Given the description of an element on the screen output the (x, y) to click on. 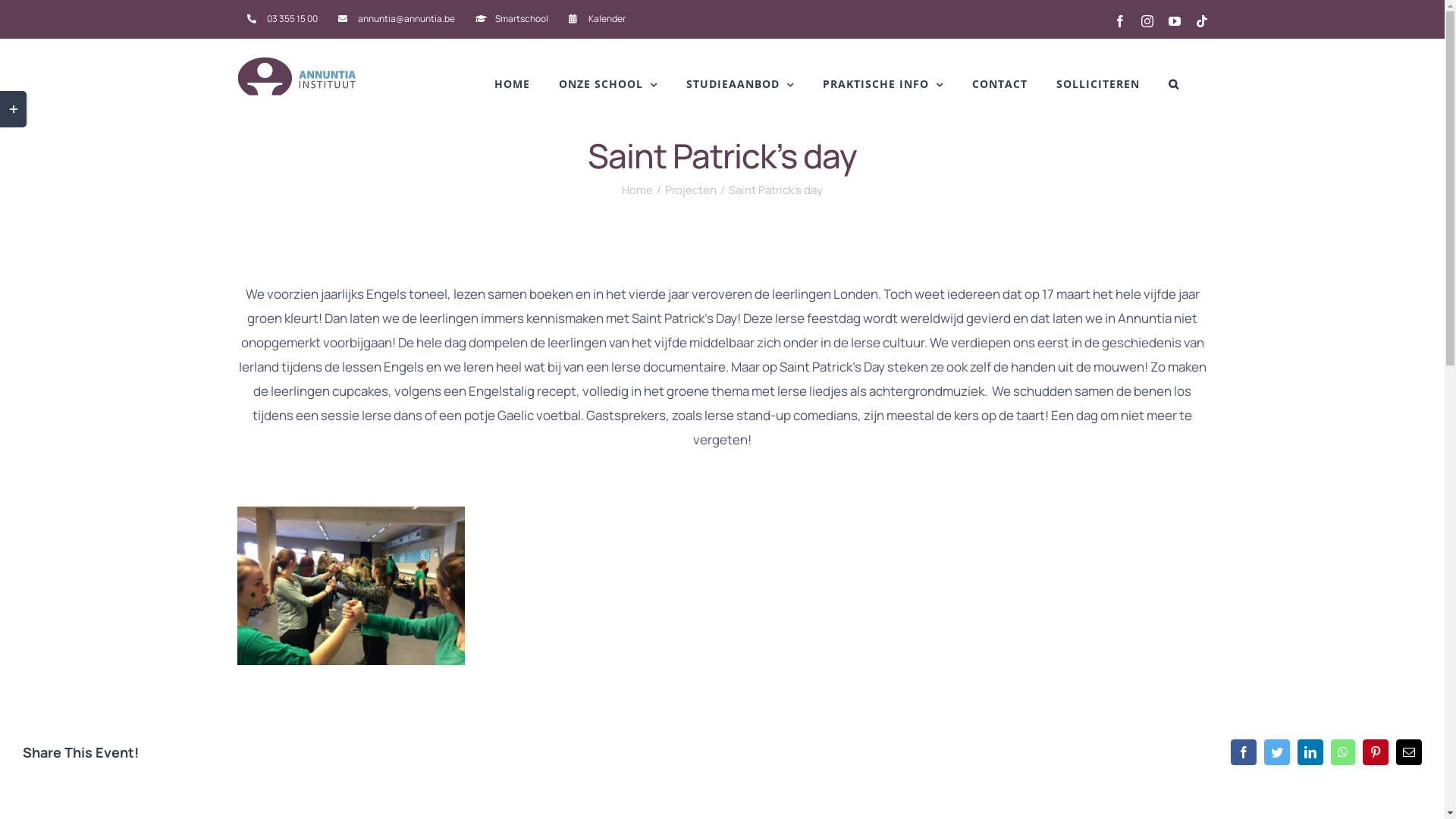
Zoeken Element type: hover (1172, 83)
ONZE SCHOOL Element type: text (607, 83)
Twitter Element type: text (1276, 752)
LinkedIn Element type: text (1310, 752)
HOME Element type: text (512, 83)
Tiktok Element type: text (1201, 21)
Pinterest Element type: text (1375, 752)
SOLLICITEREN Element type: text (1097, 83)
Home Element type: text (636, 189)
STUDIEAANBOD Element type: text (739, 83)
Instagram Element type: text (1146, 21)
Facebook Element type: text (1119, 21)
S1 Element type: hover (350, 585)
Toggle Sliding Bar Area Element type: text (13, 109)
CONTACT Element type: text (999, 83)
Kalender Element type: text (596, 18)
03 355 15 00 Element type: text (281, 18)
PRAKTISCHE INFO Element type: text (882, 83)
E-mail Element type: text (1408, 752)
Smartschool Element type: text (511, 18)
Projecten Element type: text (690, 189)
Facebook Element type: text (1243, 752)
YouTube Element type: text (1173, 21)
WhatsApp Element type: text (1342, 752)
annuntia@annuntia.be Element type: text (395, 18)
